Given the description of an element on the screen output the (x, y) to click on. 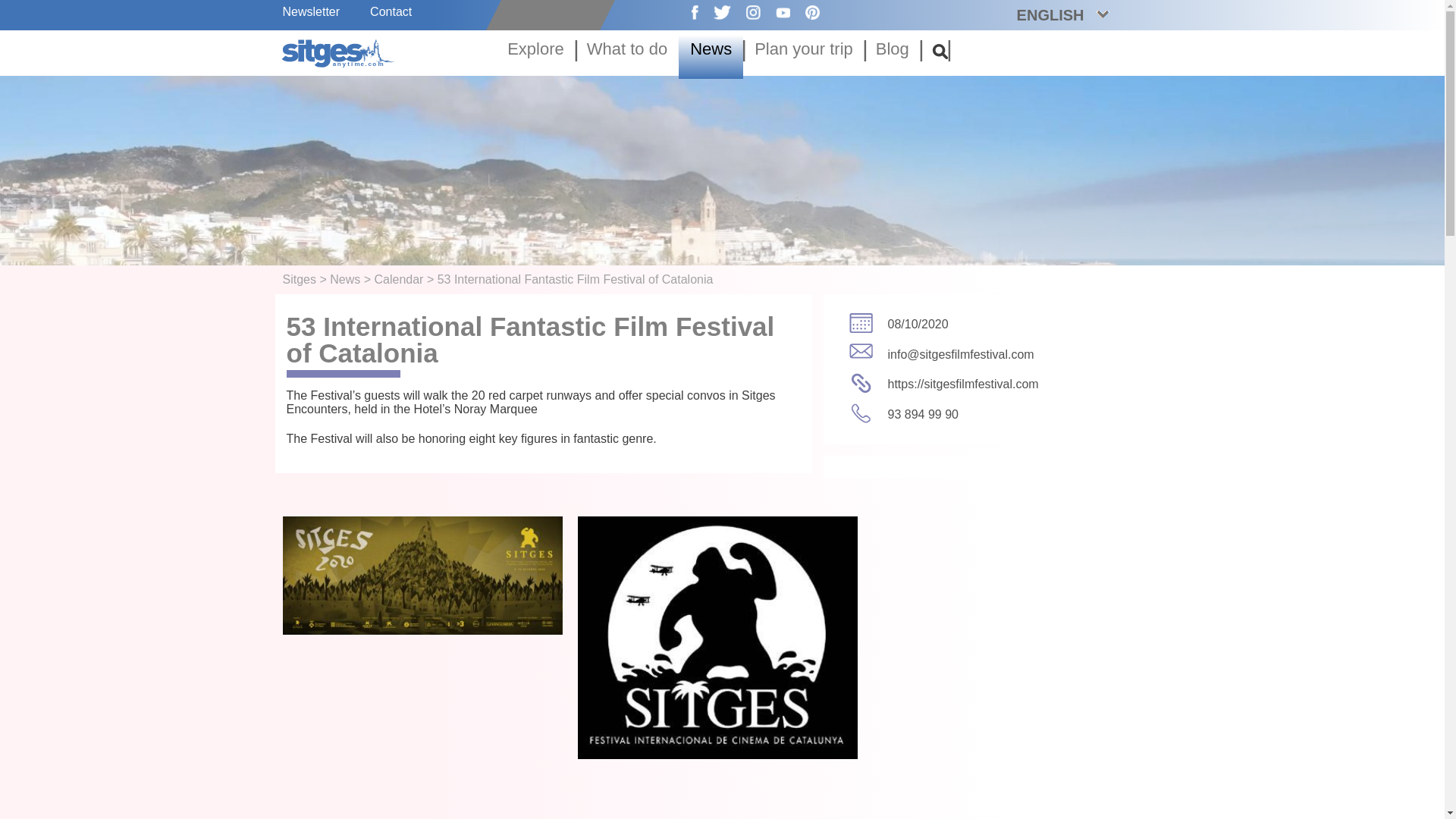
What to do (626, 54)
Explore (535, 54)
Twitter (714, 11)
Facebook (687, 11)
Sitges Tourism (339, 51)
Pinterest (804, 11)
Contact (390, 11)
Instagram (745, 11)
Explore (535, 54)
News (710, 54)
Newsletter (310, 11)
Newsletter (310, 11)
YouTube (775, 11)
Contact (390, 11)
